Given the description of an element on the screen output the (x, y) to click on. 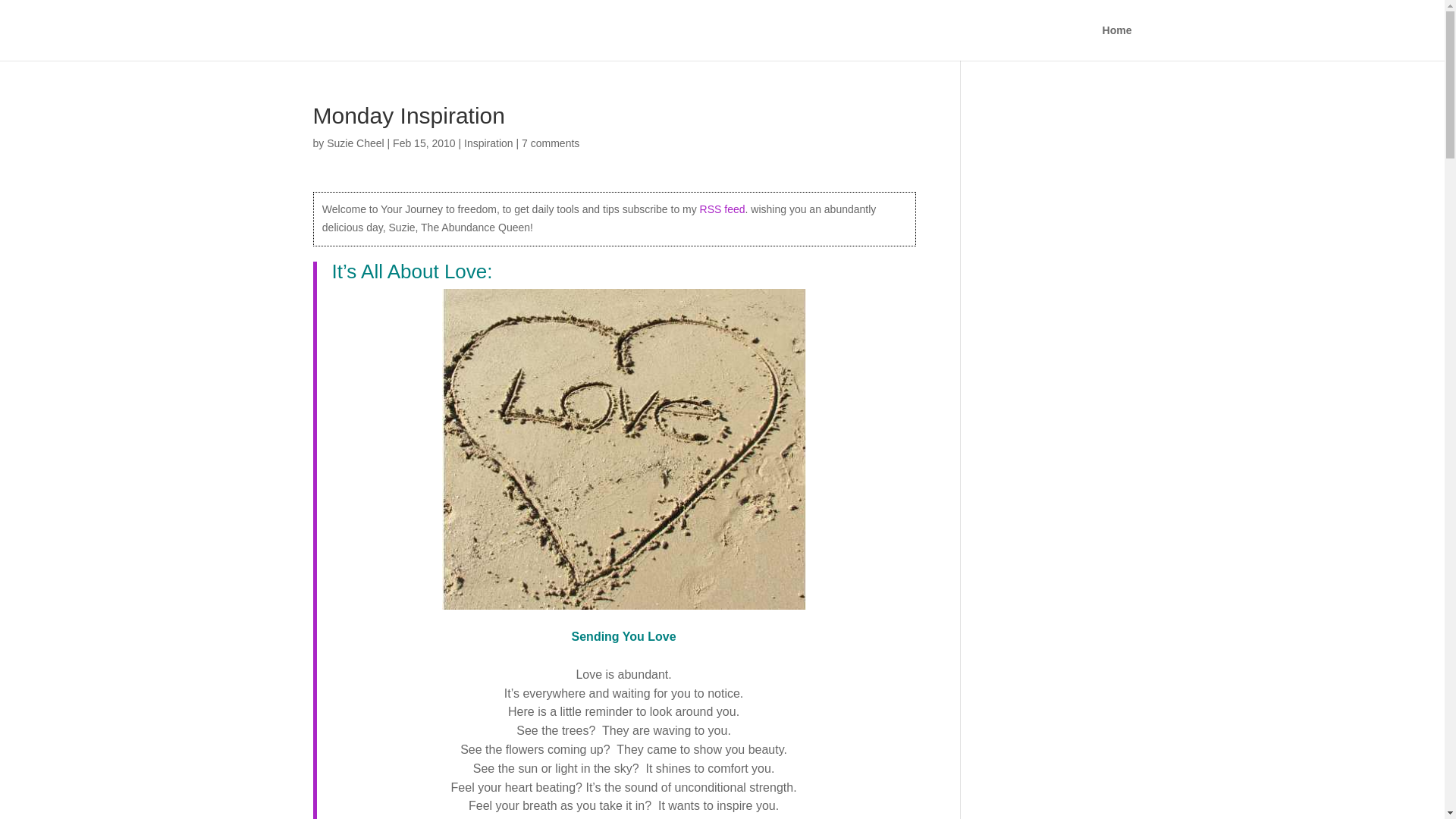
Suzie Cheel (355, 143)
Posts by Suzie Cheel (355, 143)
Love (624, 449)
RSS feed (722, 209)
Inspiration (488, 143)
7 comments (550, 143)
